Given the description of an element on the screen output the (x, y) to click on. 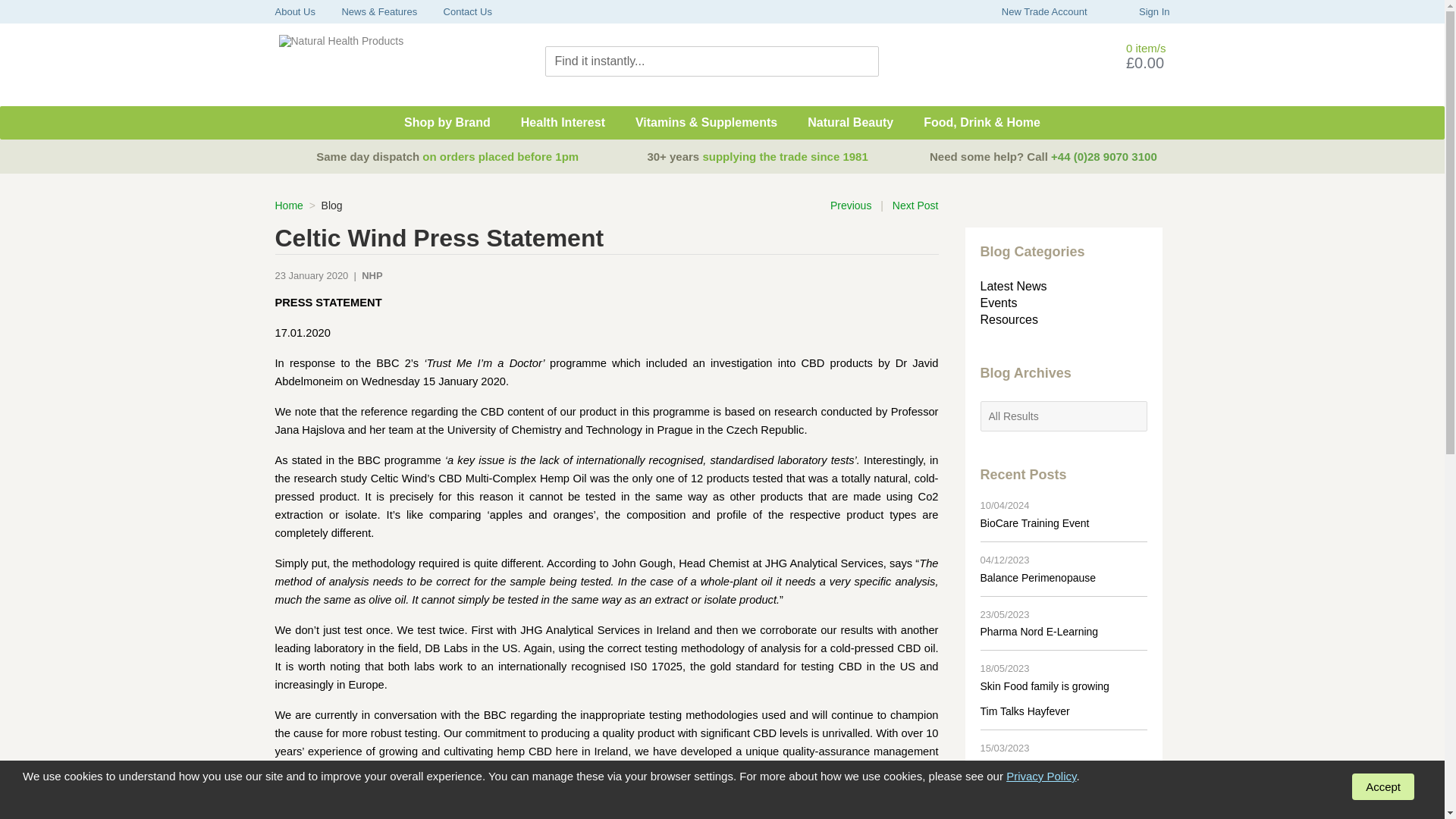
Home (288, 205)
Previous (849, 205)
Now Stocking BioCare (1032, 816)
Tim Talks Hayfever (1023, 711)
Skin Food family is growing (1043, 686)
Balance Perimenopause (1037, 577)
Blog (331, 205)
BioCare Training Event (1034, 522)
Latest News (1012, 286)
Resources (1007, 319)
